Given the description of an element on the screen output the (x, y) to click on. 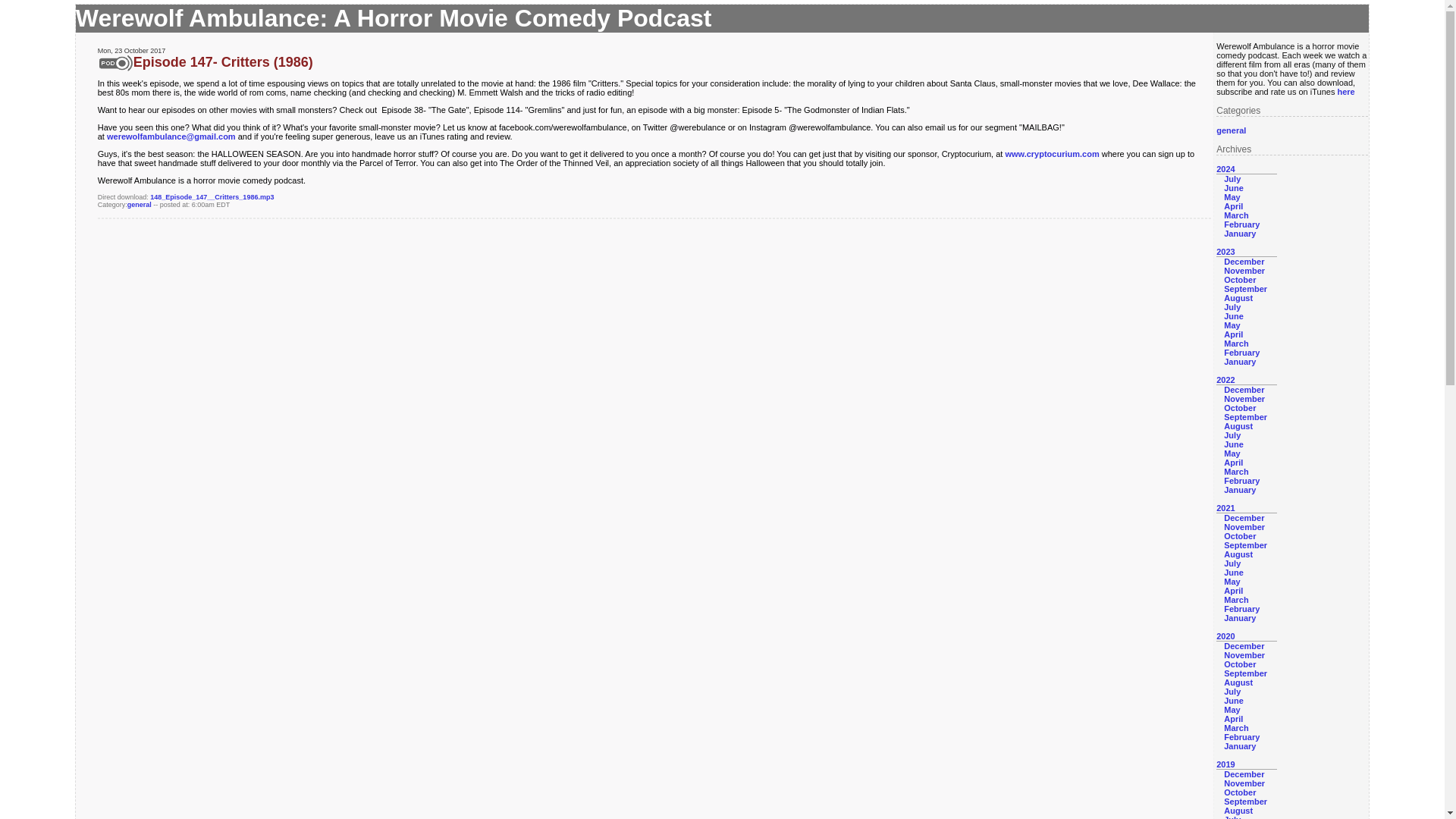
November (1244, 398)
July (1232, 307)
2021 (1224, 507)
May (1232, 452)
October (1239, 279)
May (1232, 196)
October (1239, 407)
August (1238, 425)
2024 (1224, 168)
March (1235, 215)
2022 (1224, 379)
September (1245, 416)
January (1239, 233)
December (1243, 261)
January (1239, 489)
